Given the description of an element on the screen output the (x, y) to click on. 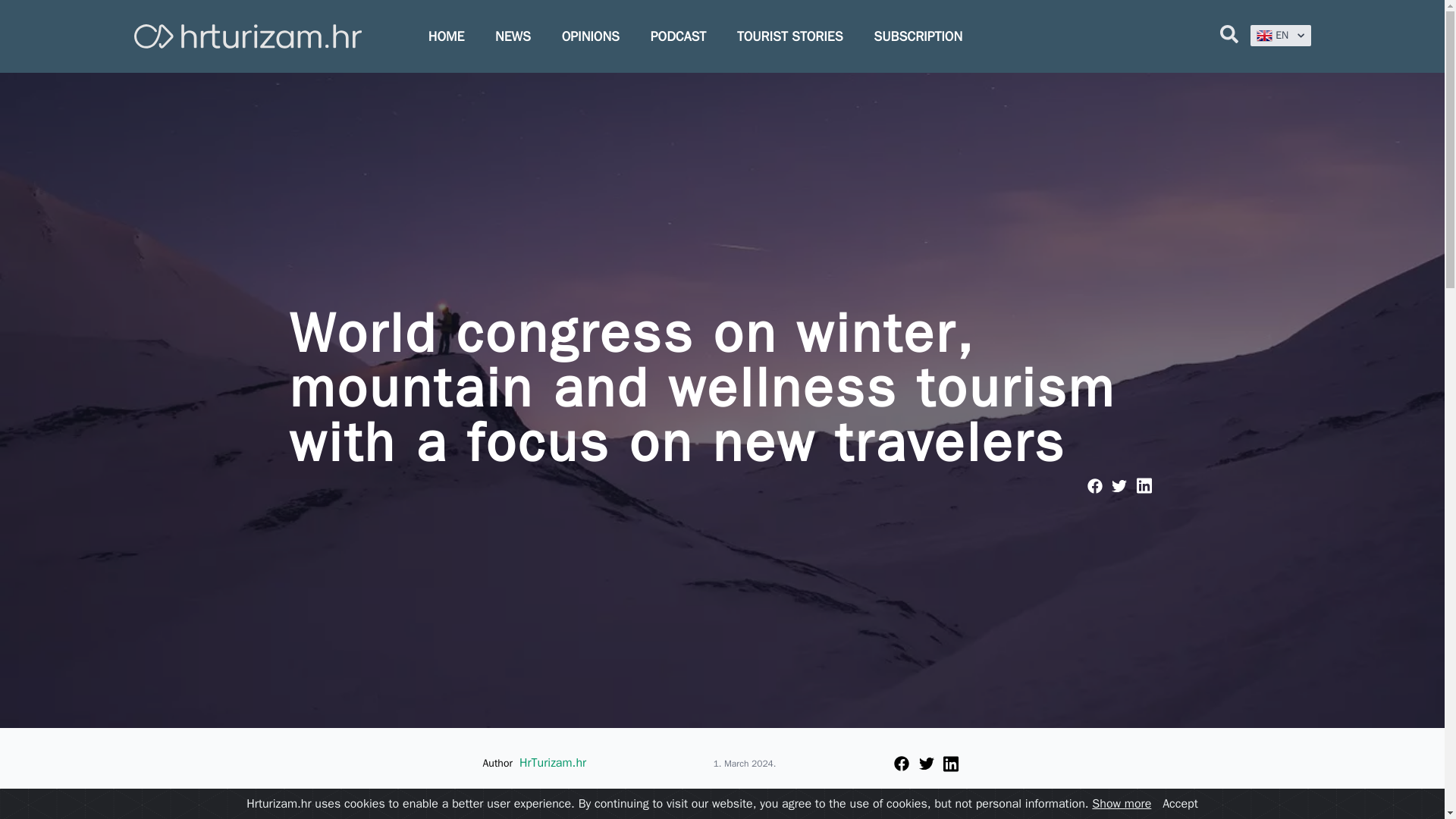
SUBSCRIPTION (917, 36)
OPINIONS (591, 36)
HrTurizam.hr (552, 762)
NEWS (513, 36)
HOME (446, 36)
  EN (1279, 34)
PODCAST (678, 36)
TOURIST STORIES (789, 36)
